Given the description of an element on the screen output the (x, y) to click on. 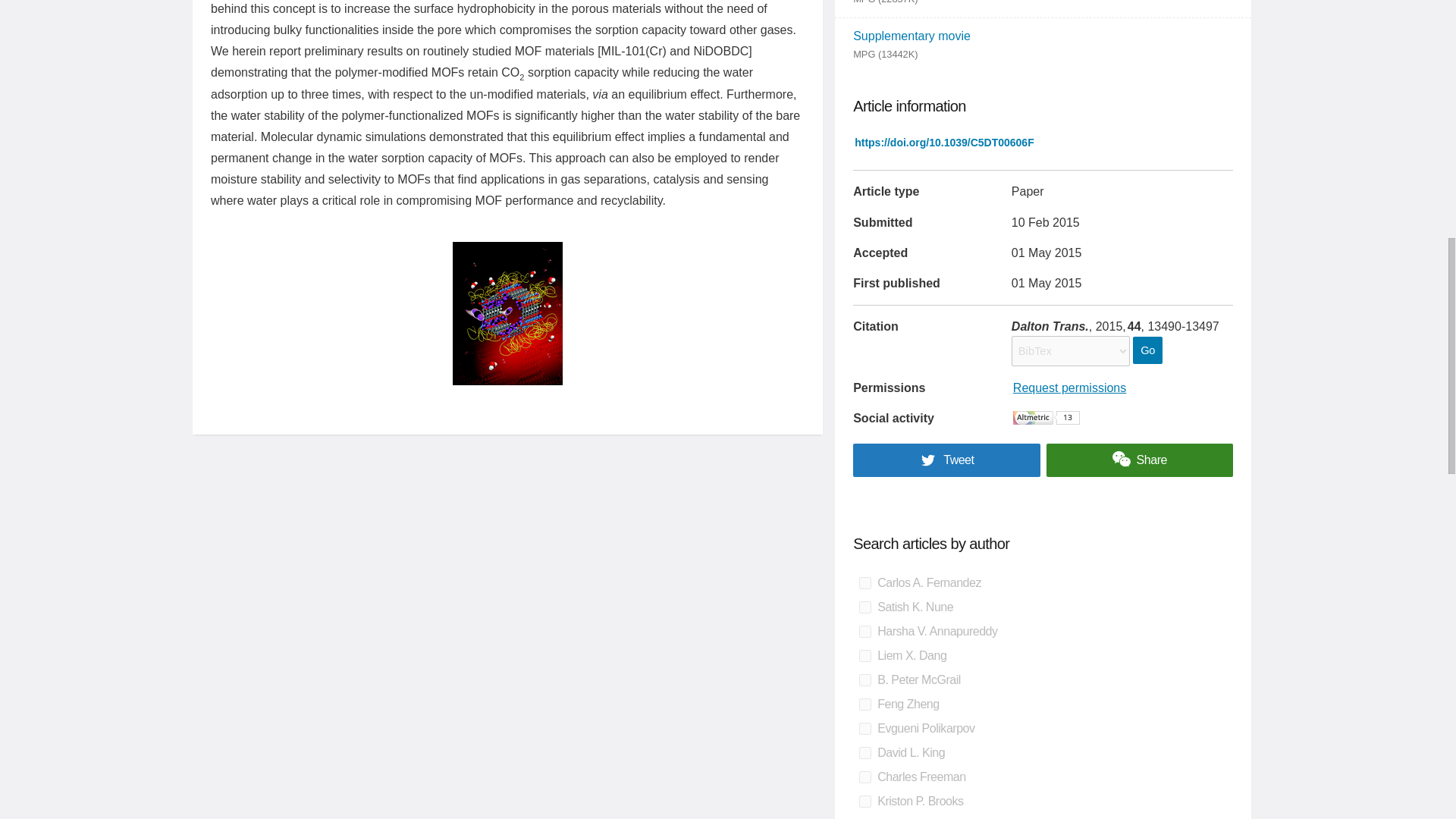
on (864, 607)
on (864, 680)
on (864, 631)
on (864, 582)
on (864, 776)
on (864, 752)
on (864, 801)
on (864, 655)
Go (1146, 349)
on (864, 728)
